Given the description of an element on the screen output the (x, y) to click on. 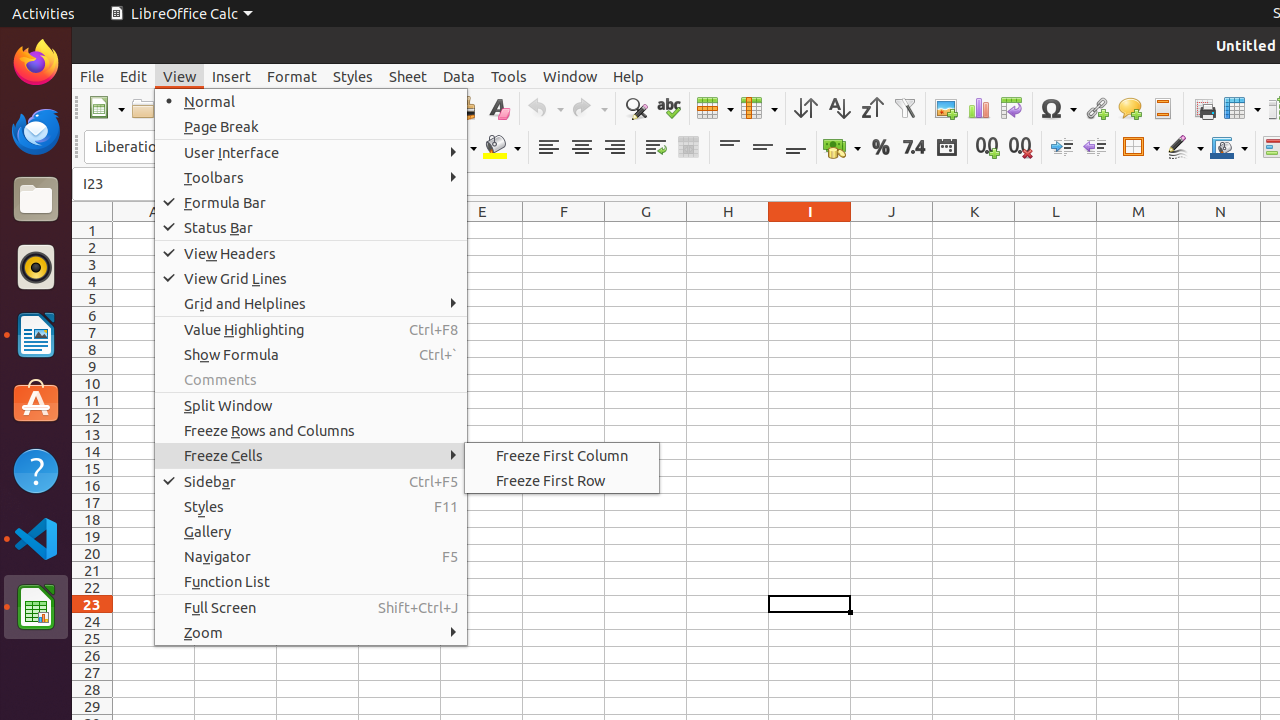
Align Right Element type: push-button (614, 147)
H1 Element type: table-cell (728, 230)
Currency Element type: push-button (842, 147)
F1 Element type: table-cell (564, 230)
